Given the description of an element on the screen output the (x, y) to click on. 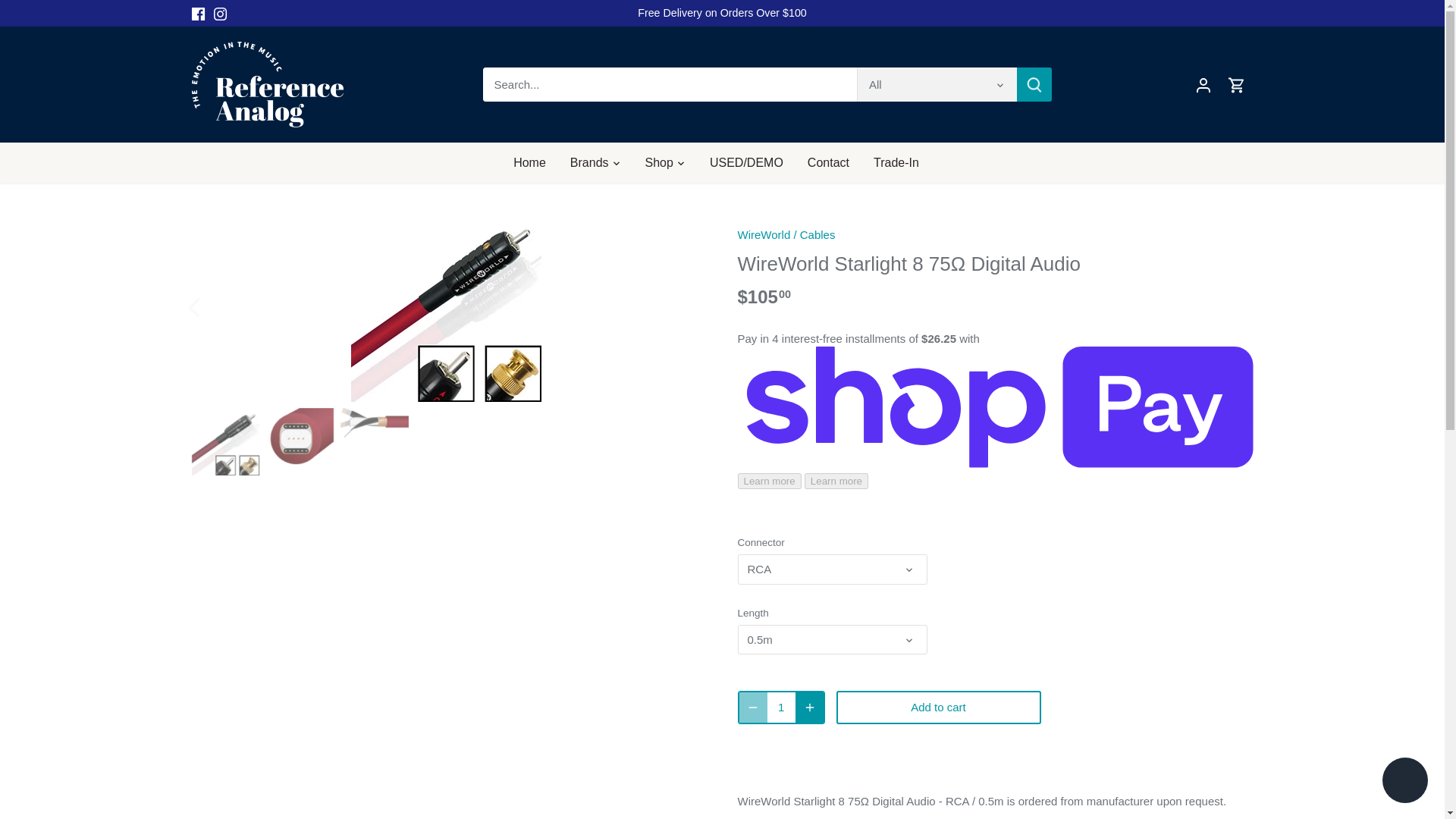
Shopify online store chat (1404, 781)
1 (781, 707)
Brands (589, 162)
Facebook (196, 13)
Instagram (220, 13)
Home (535, 162)
